Given the description of an element on the screen output the (x, y) to click on. 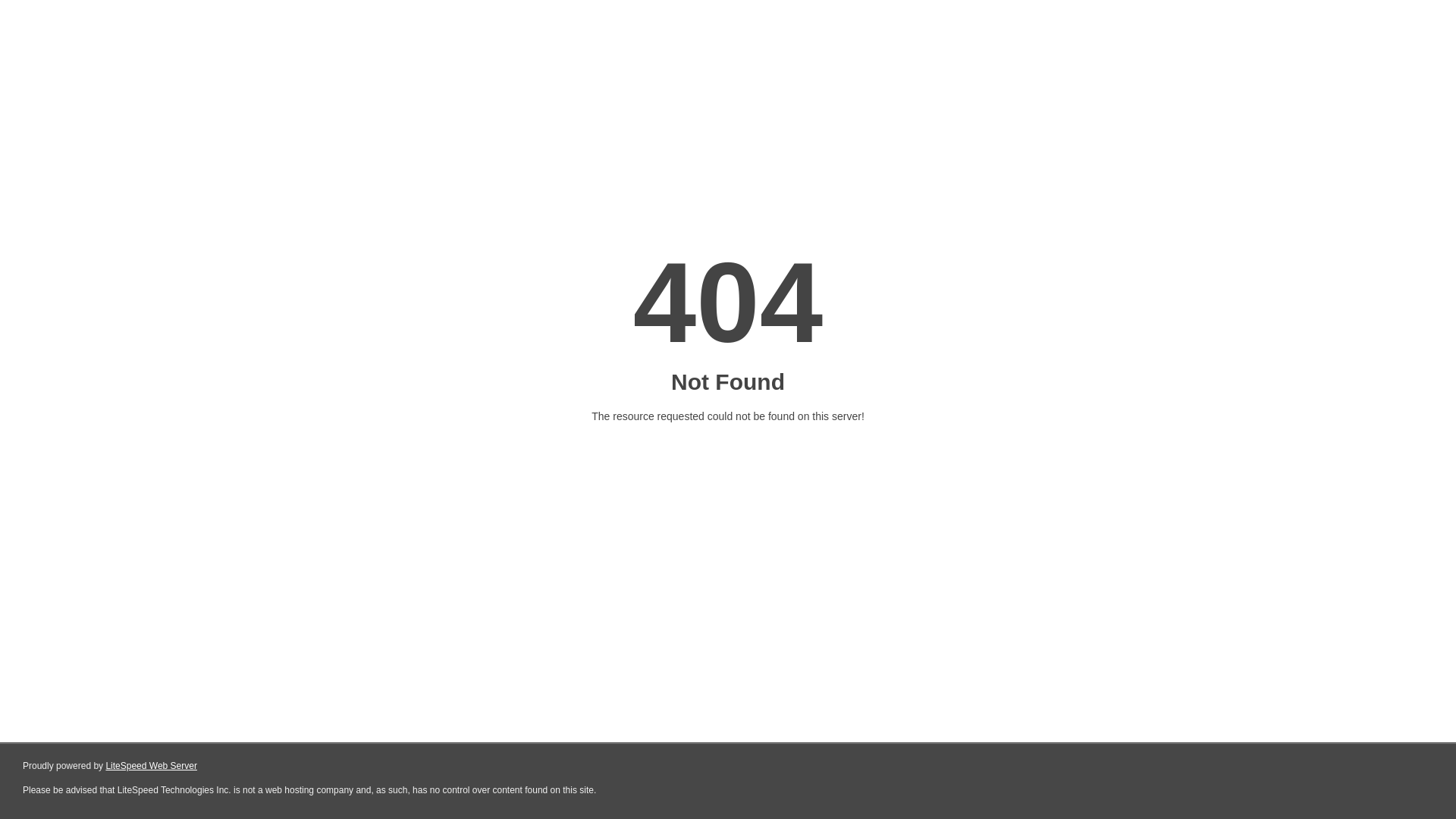
LiteSpeed Web Server Element type: text (151, 765)
